Given the description of an element on the screen output the (x, y) to click on. 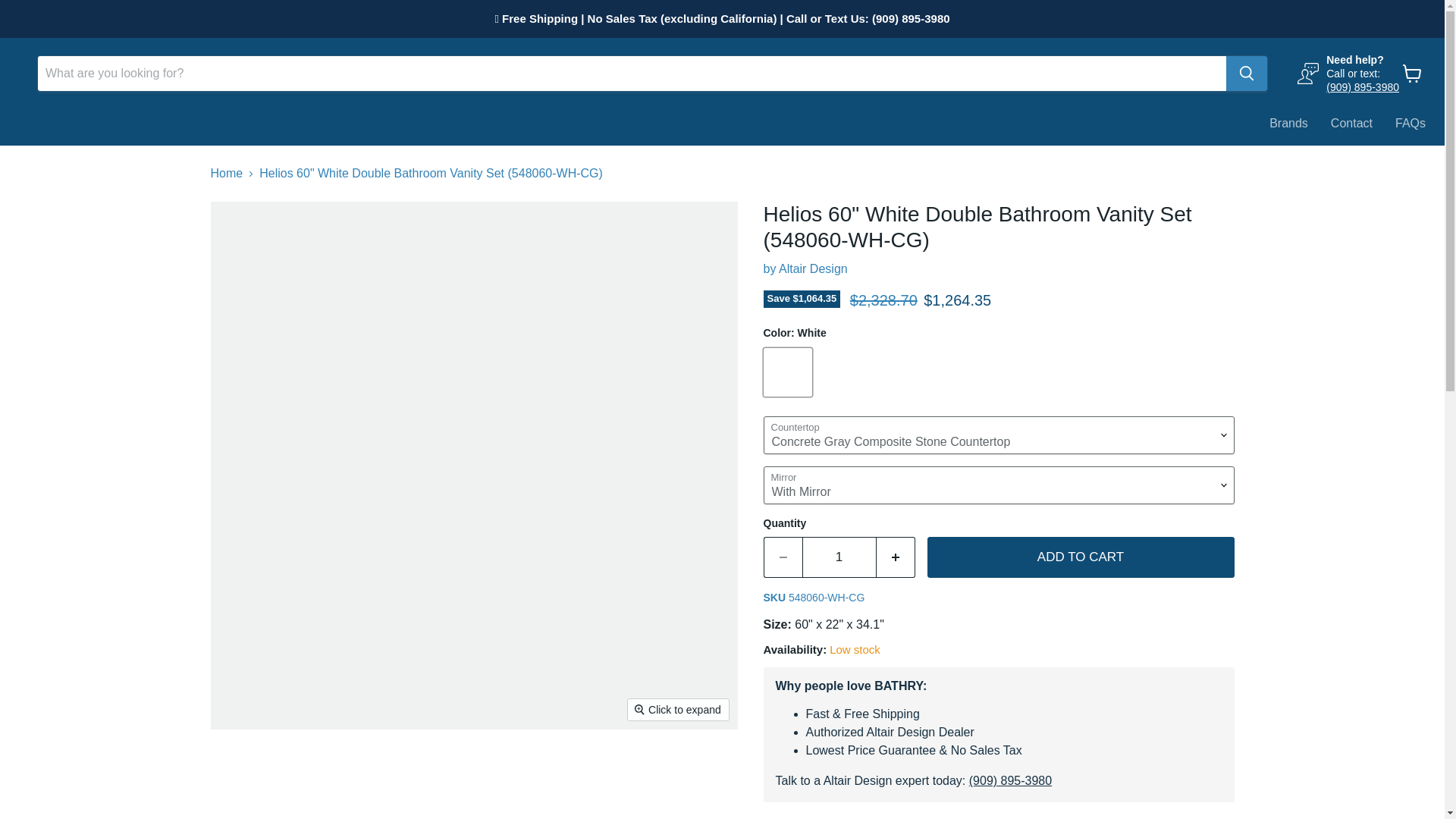
View cart (1411, 73)
Altair Design (812, 268)
FAQs (1410, 123)
1 (839, 557)
Contact (1351, 123)
Brands (1288, 123)
